Given the description of an element on the screen output the (x, y) to click on. 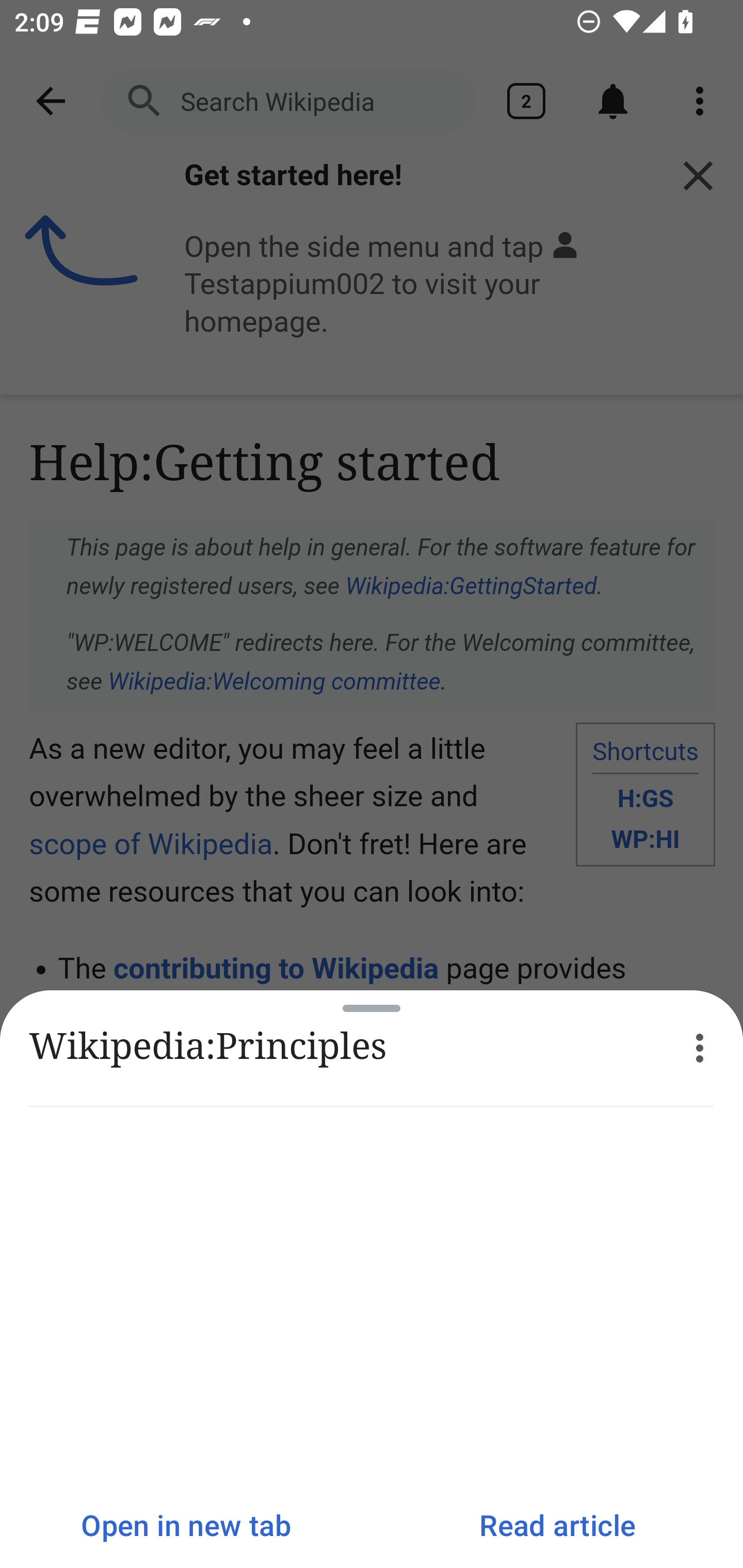
Wikipedia:Principles More options (371, 1047)
More options (699, 1048)
Open in new tab (185, 1524)
Read article (557, 1524)
